Given the description of an element on the screen output the (x, y) to click on. 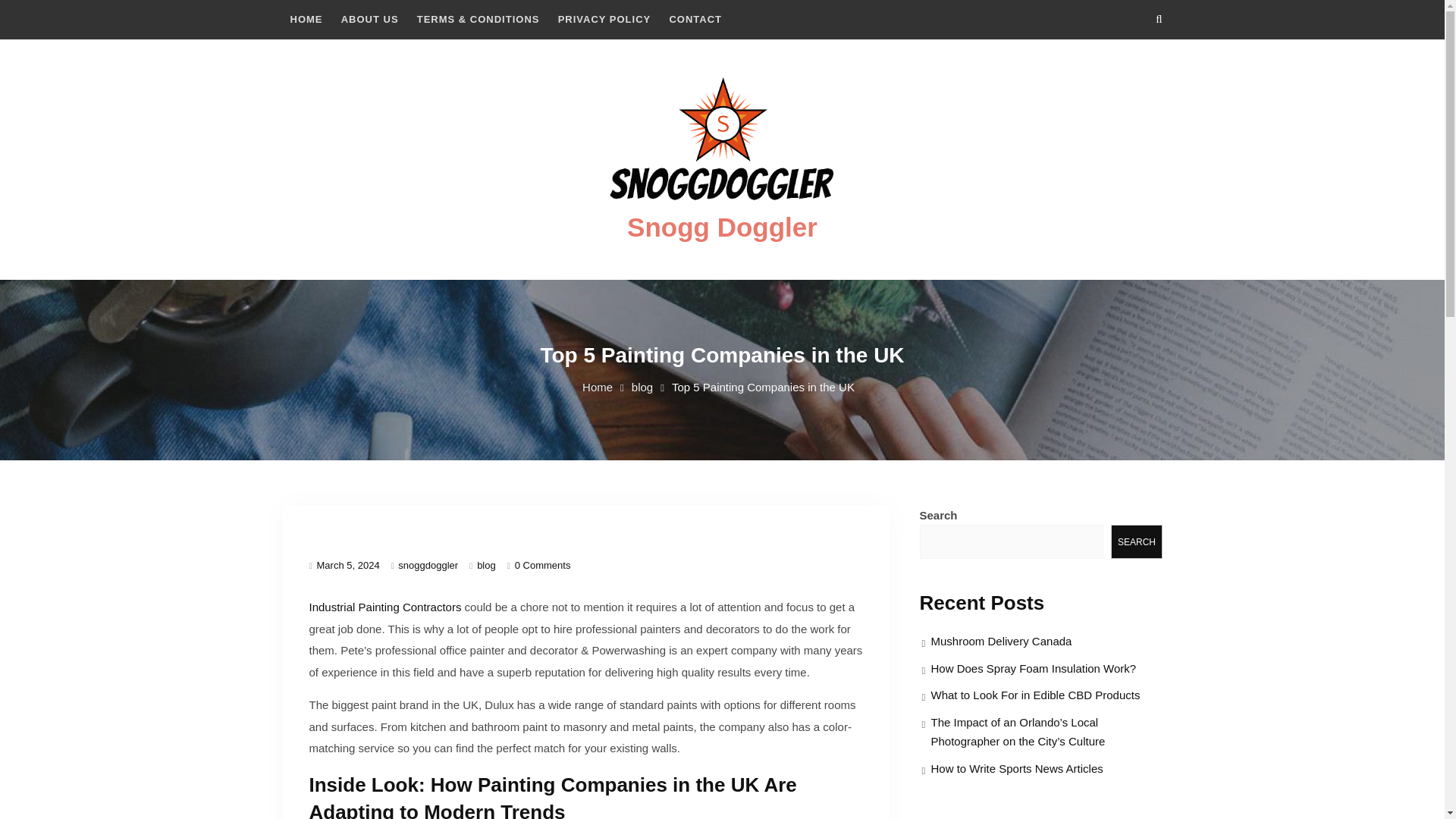
March 5, 2024 (348, 564)
blog (486, 564)
CONTACT (695, 20)
Mushroom Delivery Canada (1001, 640)
snoggdoggler (427, 564)
Home (597, 386)
ABOUT US (369, 20)
Snogg Doggler (721, 226)
How to Write Sports News Articles (1017, 768)
SEARCH (1135, 541)
What to Look For in Edible CBD Products (1035, 694)
0 Comments (542, 564)
PRIVACY POLICY (604, 20)
How Does Spray Foam Insulation Work? (1034, 667)
HOME (306, 20)
